Given the description of an element on the screen output the (x, y) to click on. 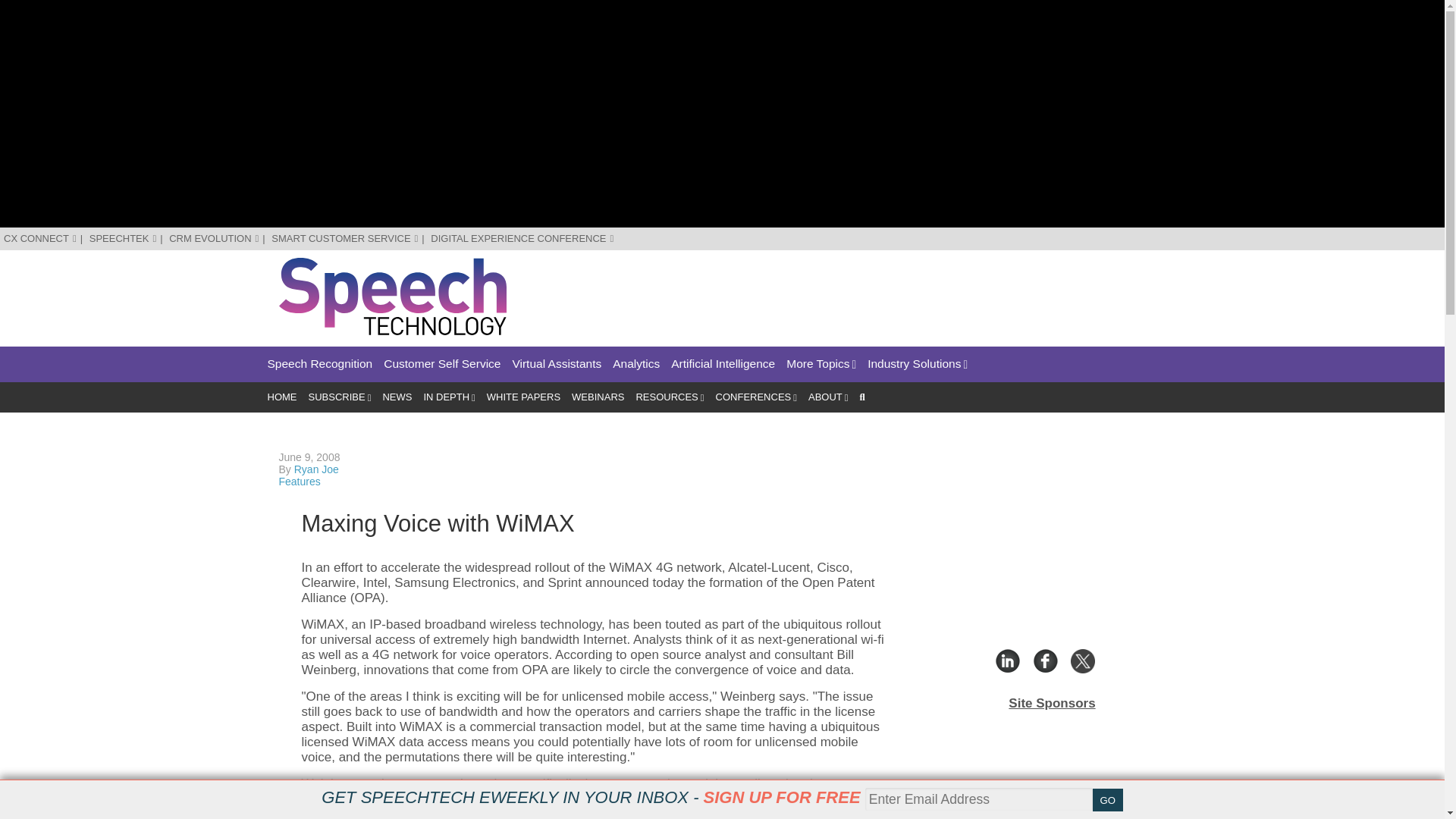
Virtual Assistants (556, 364)
Virtual Assistants (556, 364)
Artificial Intelligence (722, 364)
Analytics (635, 364)
Industry Solutions (917, 364)
Speech Recognition (319, 364)
3rd party ad content (890, 291)
CX CONNECT (40, 238)
Customer Self Service (442, 364)
SPEECHTEK (122, 238)
Customer Self Service (442, 364)
CRM EVOLUTION (213, 238)
More Topics (821, 364)
GO (1107, 799)
